Given the description of an element on the screen output the (x, y) to click on. 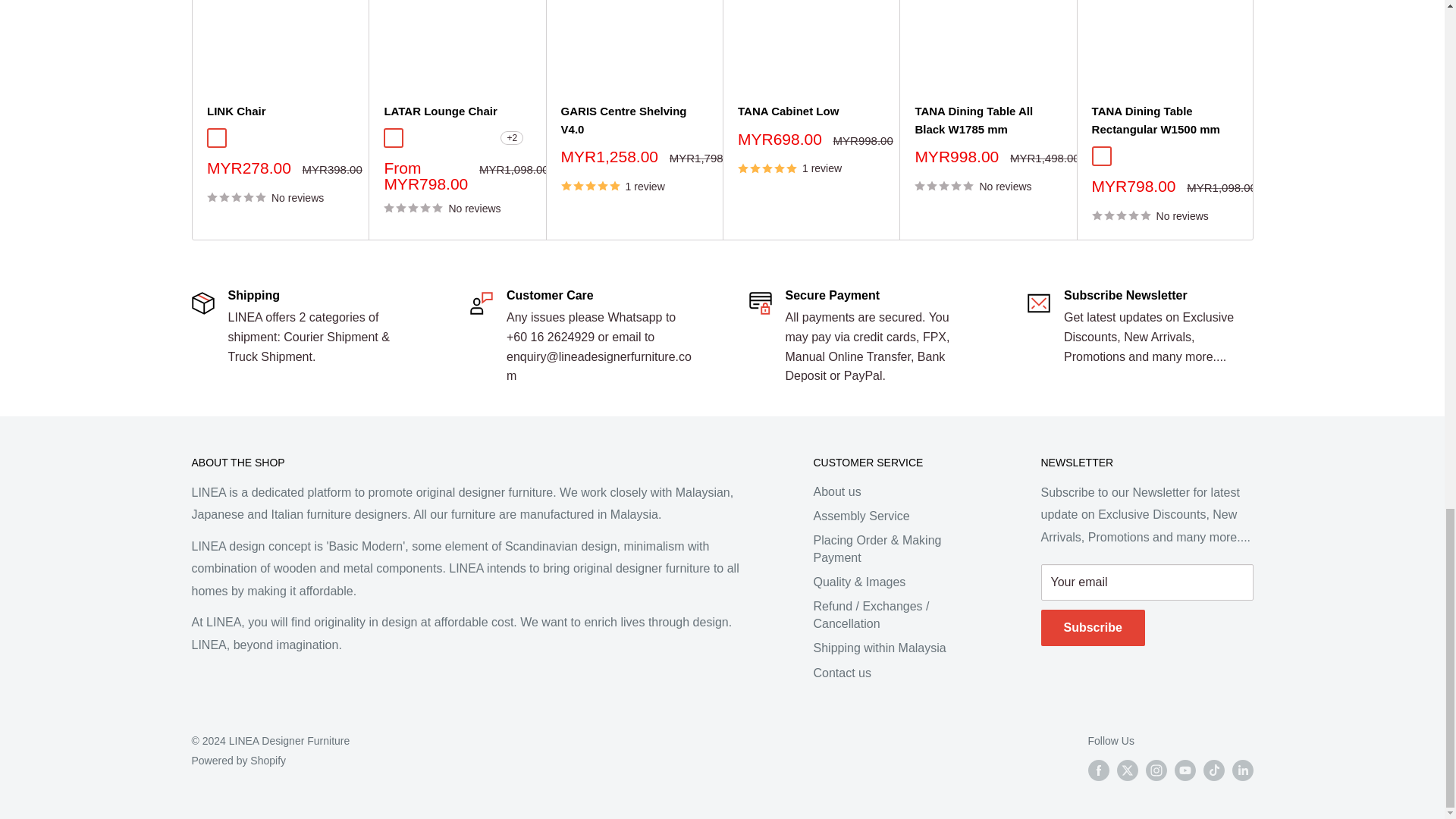
Dark Grey PVC (238, 137)
Black Leather (438, 137)
Chestnut Brown (484, 137)
Light Grey PVC (260, 137)
Brown Leather (393, 137)
Taupe Leather (416, 137)
Natural Oak (1101, 155)
Brown PVC (215, 137)
Black Fabric (306, 137)
Walnut (1123, 155)
